Given the description of an element on the screen output the (x, y) to click on. 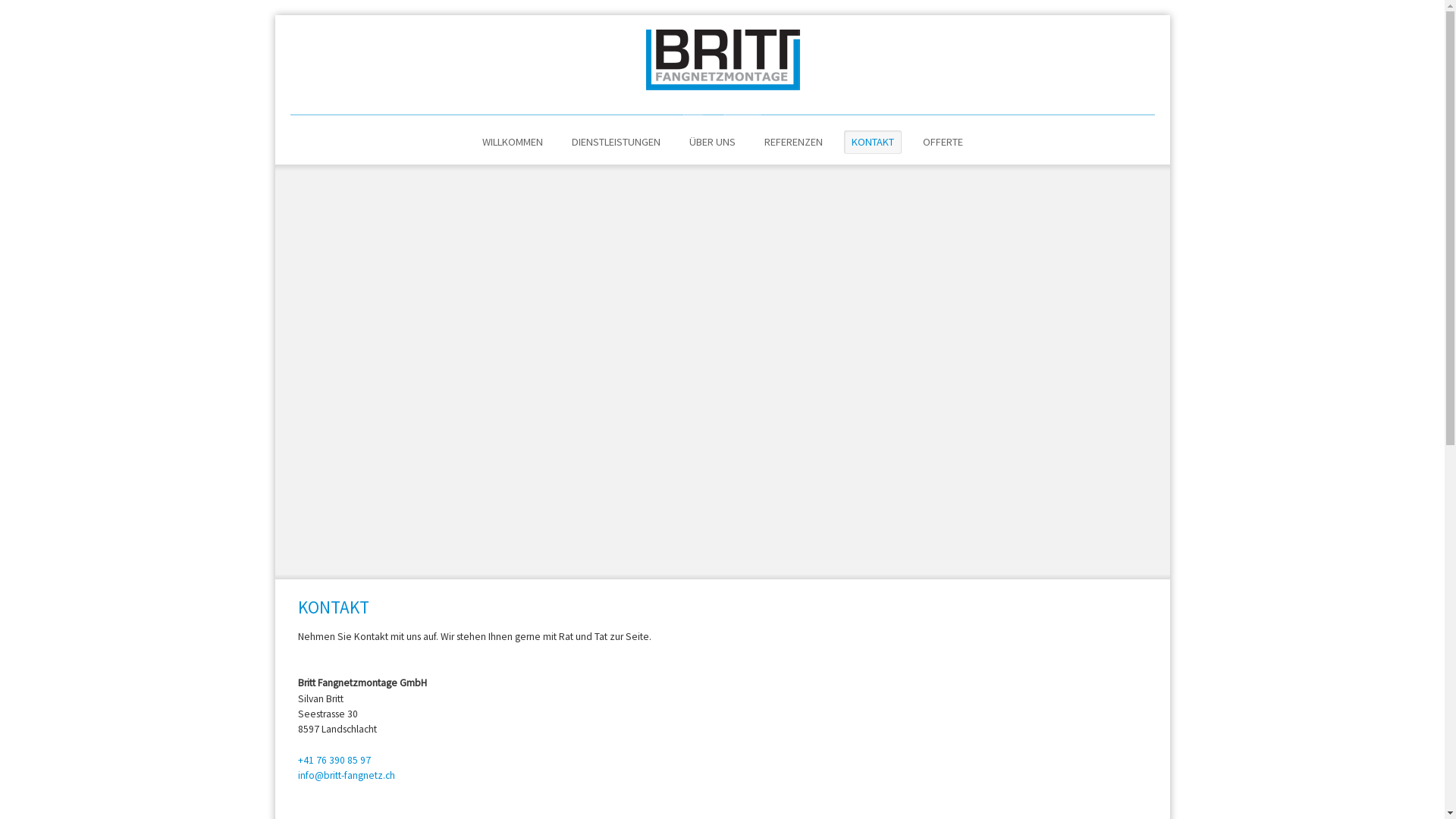
WILLKOMMEN Element type: text (512, 141)
REFERENZEN Element type: text (793, 141)
DIENSTLEISTUNGEN Element type: text (616, 141)
OFFERTE Element type: text (941, 141)
KONTAKT Element type: text (871, 141)
info@britt-fangnetz.ch Element type: text (345, 774)
+41 76 390 85 97 Element type: text (333, 759)
